Given the description of an element on the screen output the (x, y) to click on. 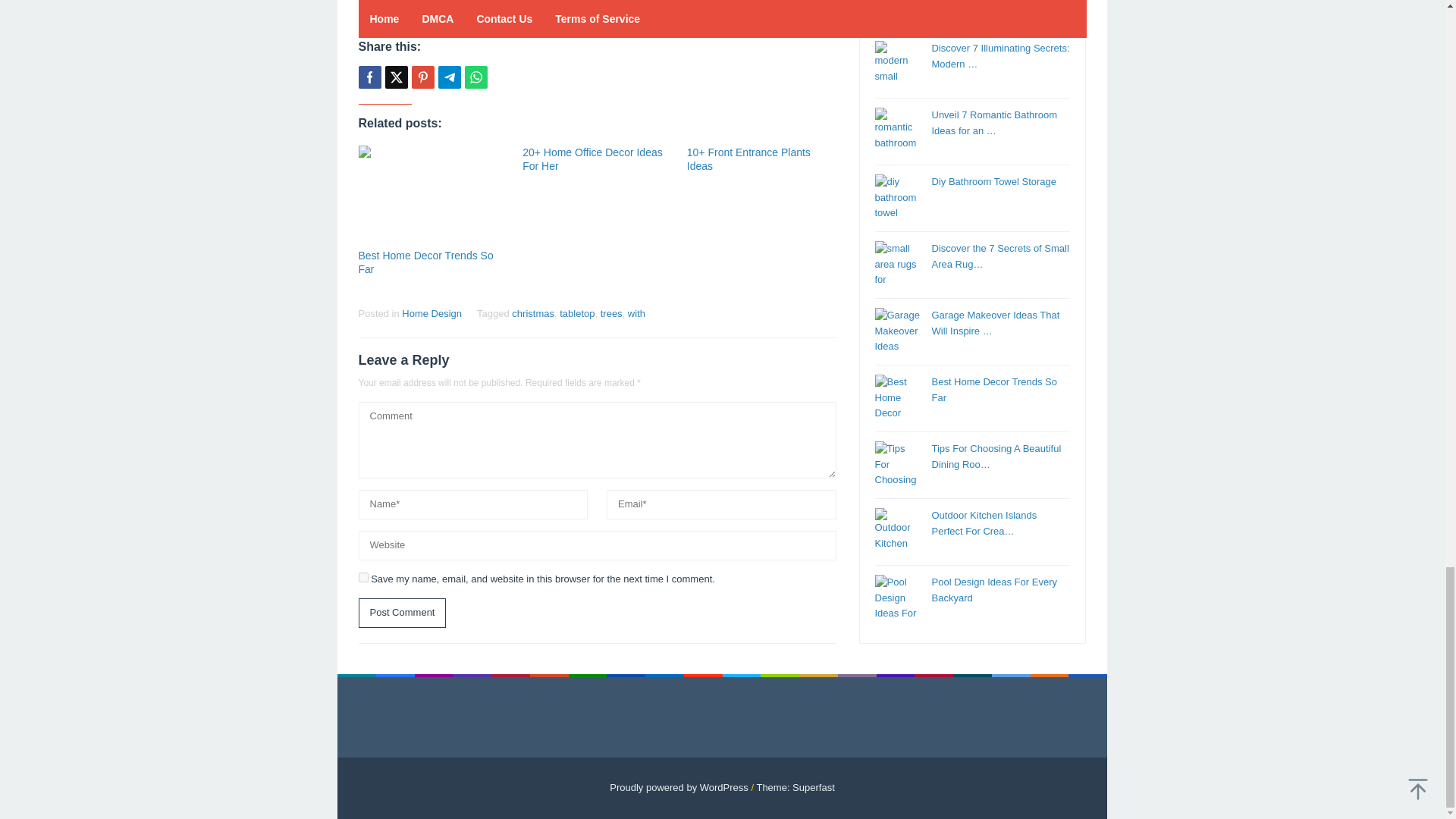
with (636, 313)
Post Comment (401, 613)
Whatsapp (475, 77)
Permalink to: Best Home Decor Trends So Far (432, 194)
Theme: Superfast (794, 787)
tabletop (576, 313)
yes (363, 577)
Home Design (431, 313)
christmas (533, 313)
Telegram Share (449, 77)
